Given the description of an element on the screen output the (x, y) to click on. 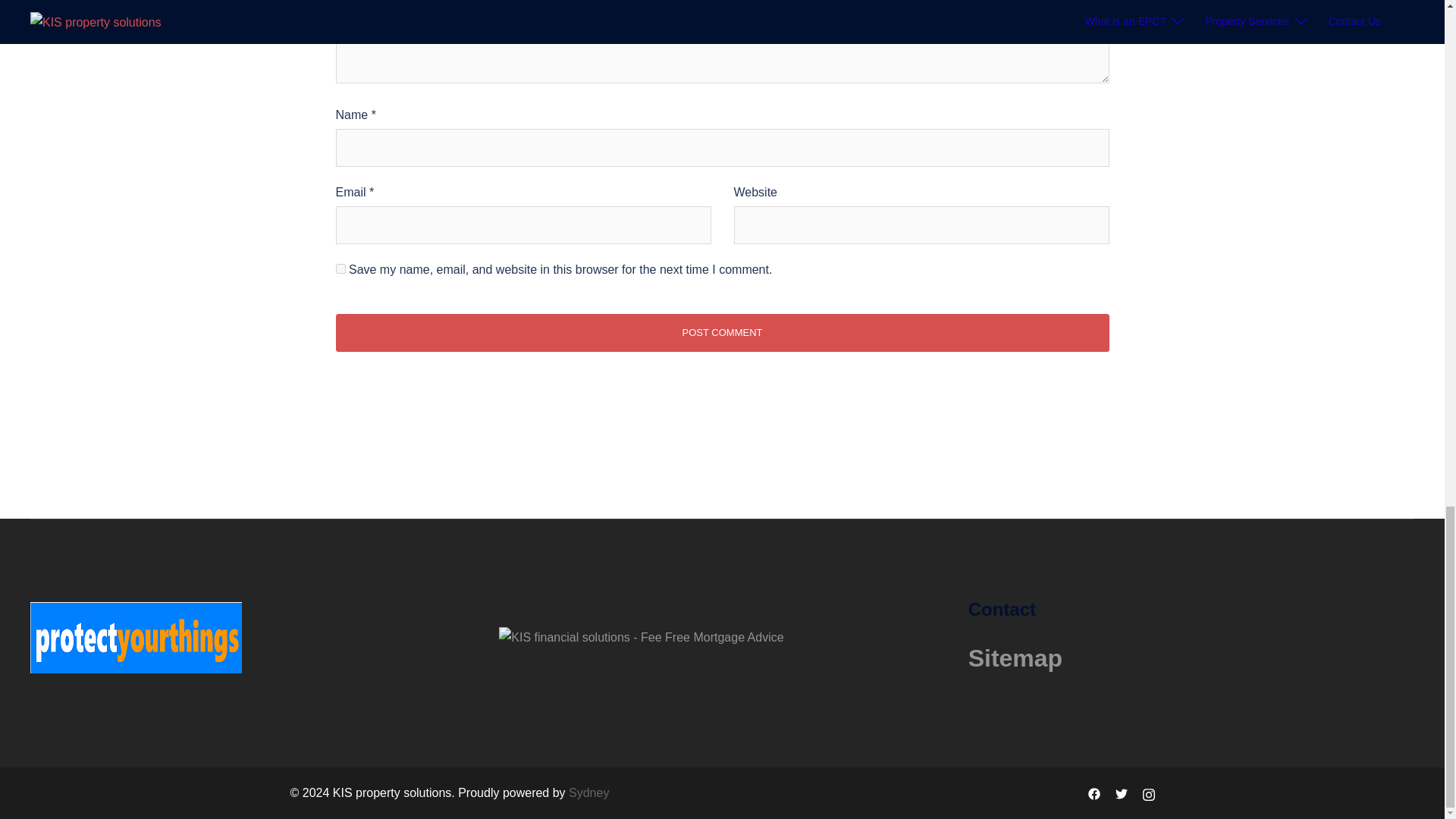
Post Comment (721, 332)
yes (339, 268)
Post Comment (721, 332)
Sitemap (1015, 657)
